Given the description of an element on the screen output the (x, y) to click on. 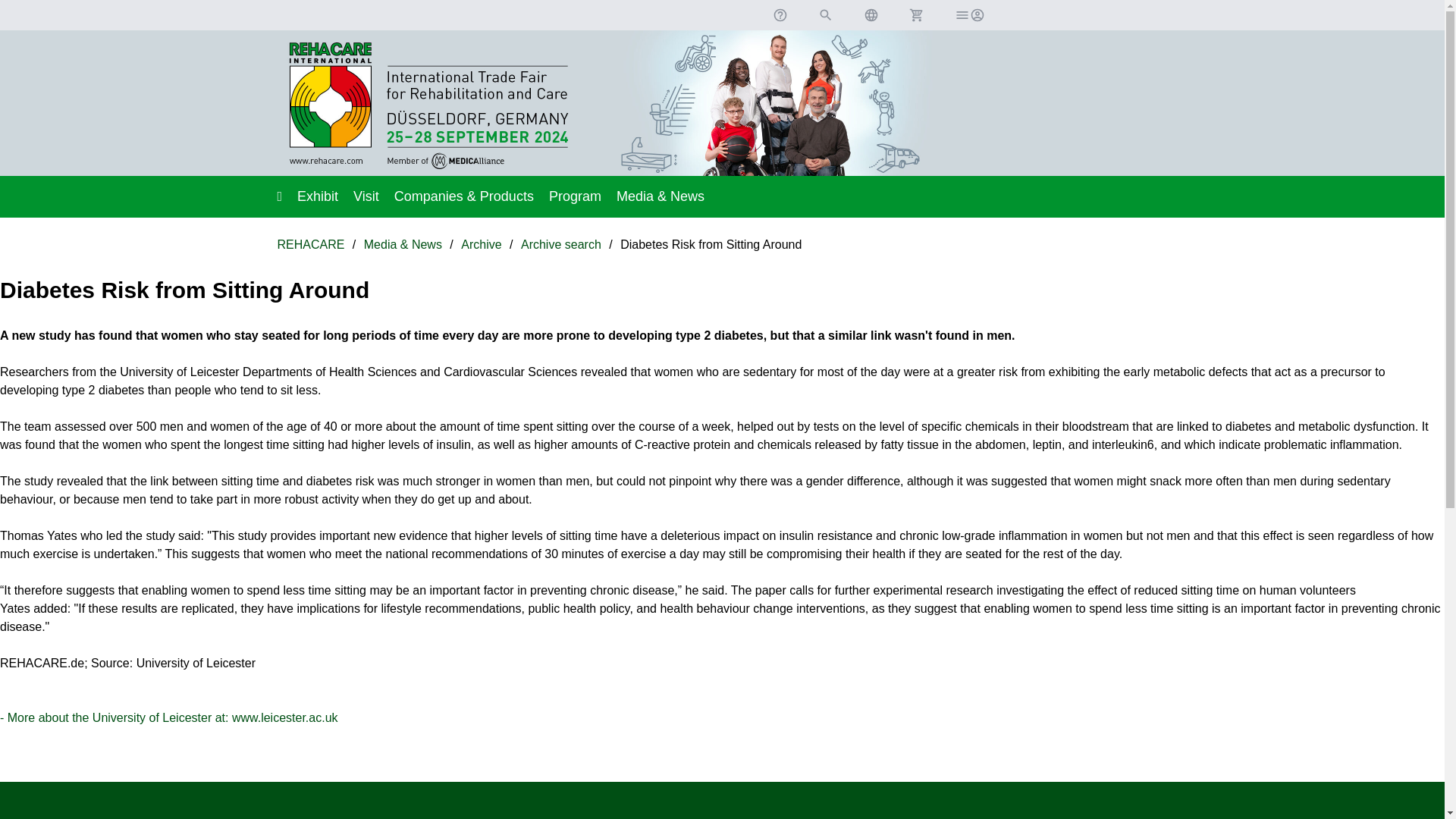
Login (968, 14)
Search (824, 14)
English (870, 14)
Ticket shop (916, 14)
Support (779, 14)
